Given the description of an element on the screen output the (x, y) to click on. 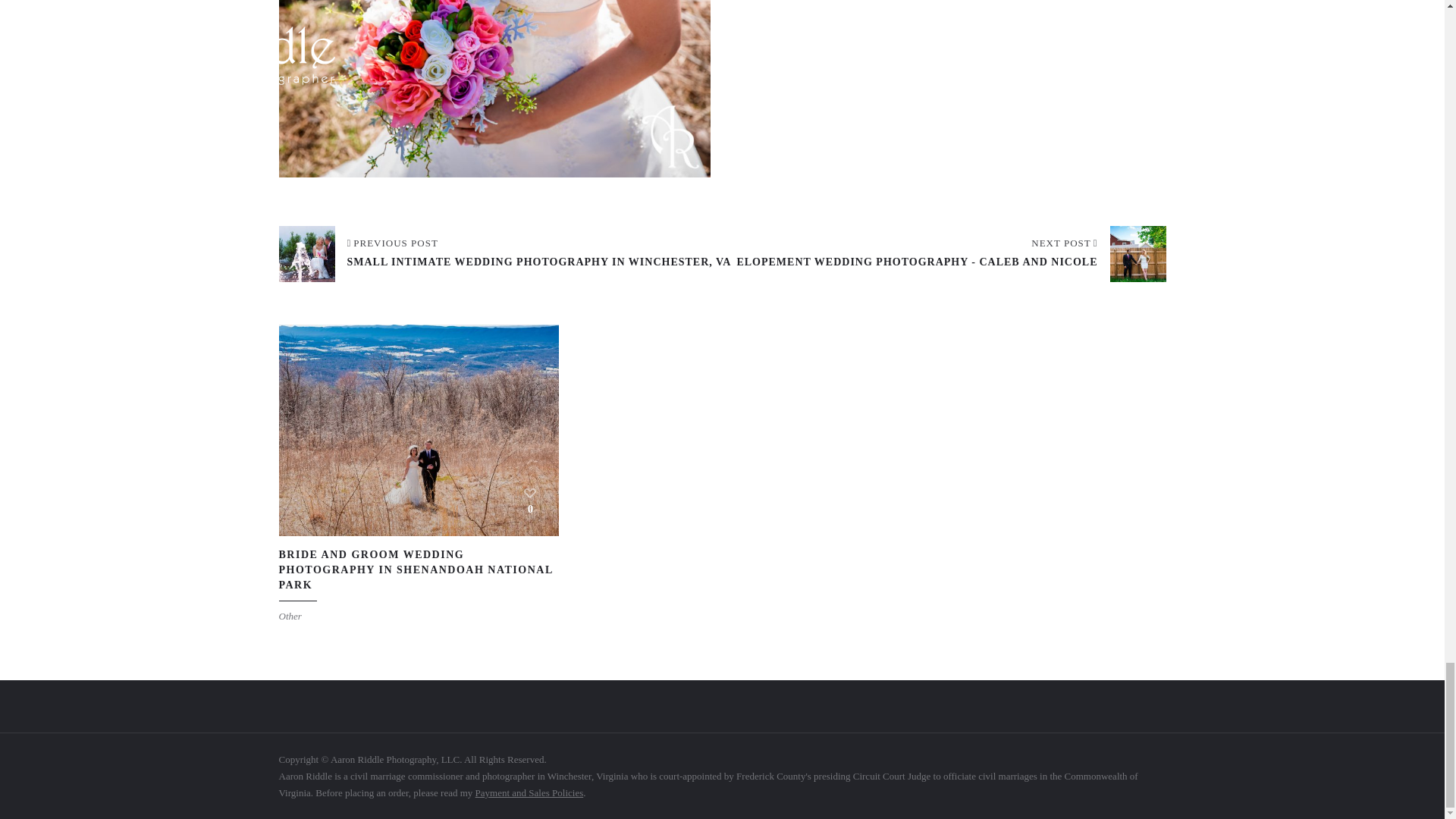
Elopement Wedding Photography - Caleb and Nicole (951, 252)
Small Intimate Wedding Photography in Winchester, VA (505, 252)
